Given the description of an element on the screen output the (x, y) to click on. 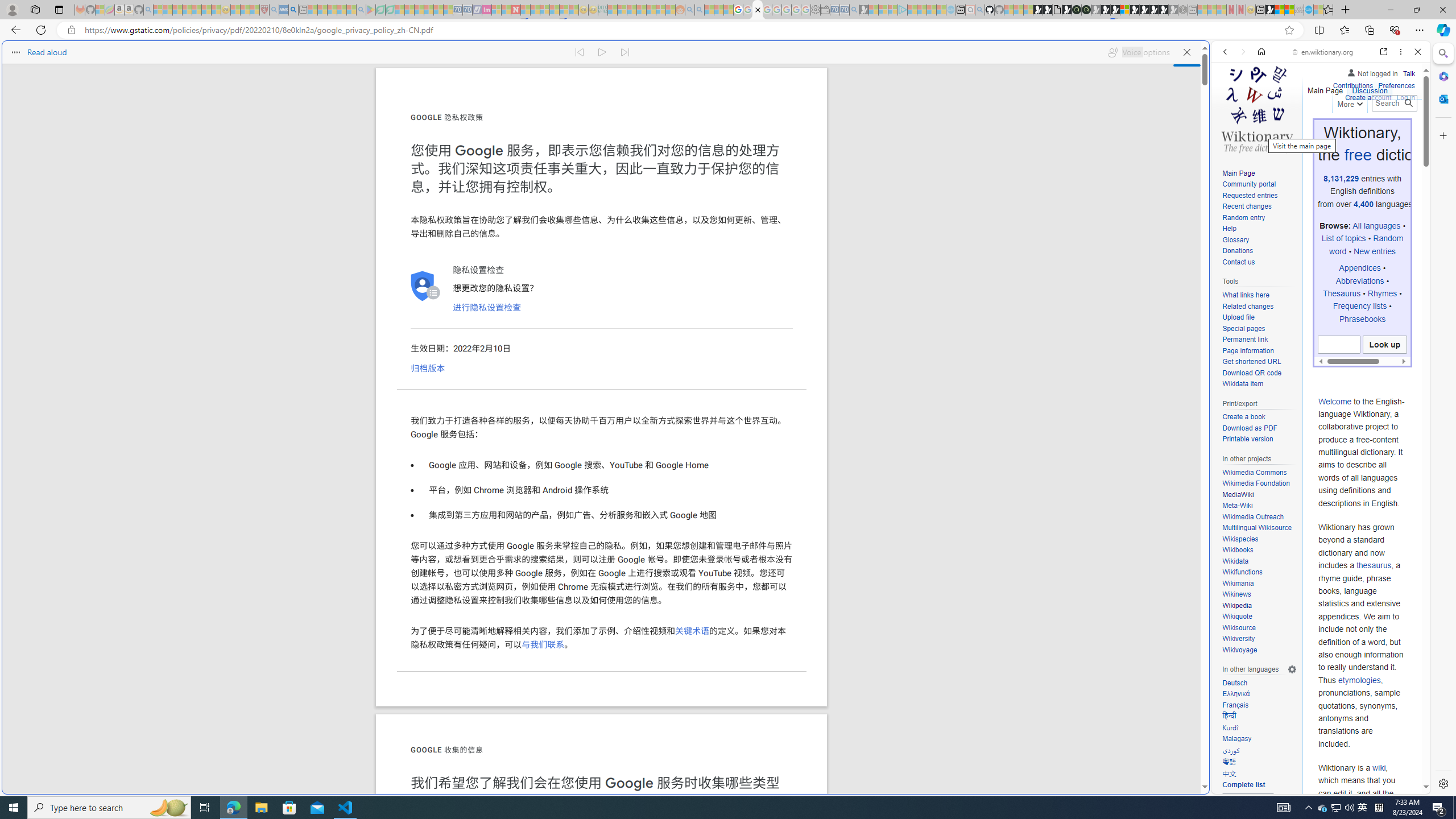
Wikivoyage (1259, 650)
Download QR code (1251, 372)
8,131,229 (1341, 178)
Deutsch (1259, 683)
Wiktionary (1315, 380)
Main Page (1259, 173)
